Given the description of an element on the screen output the (x, y) to click on. 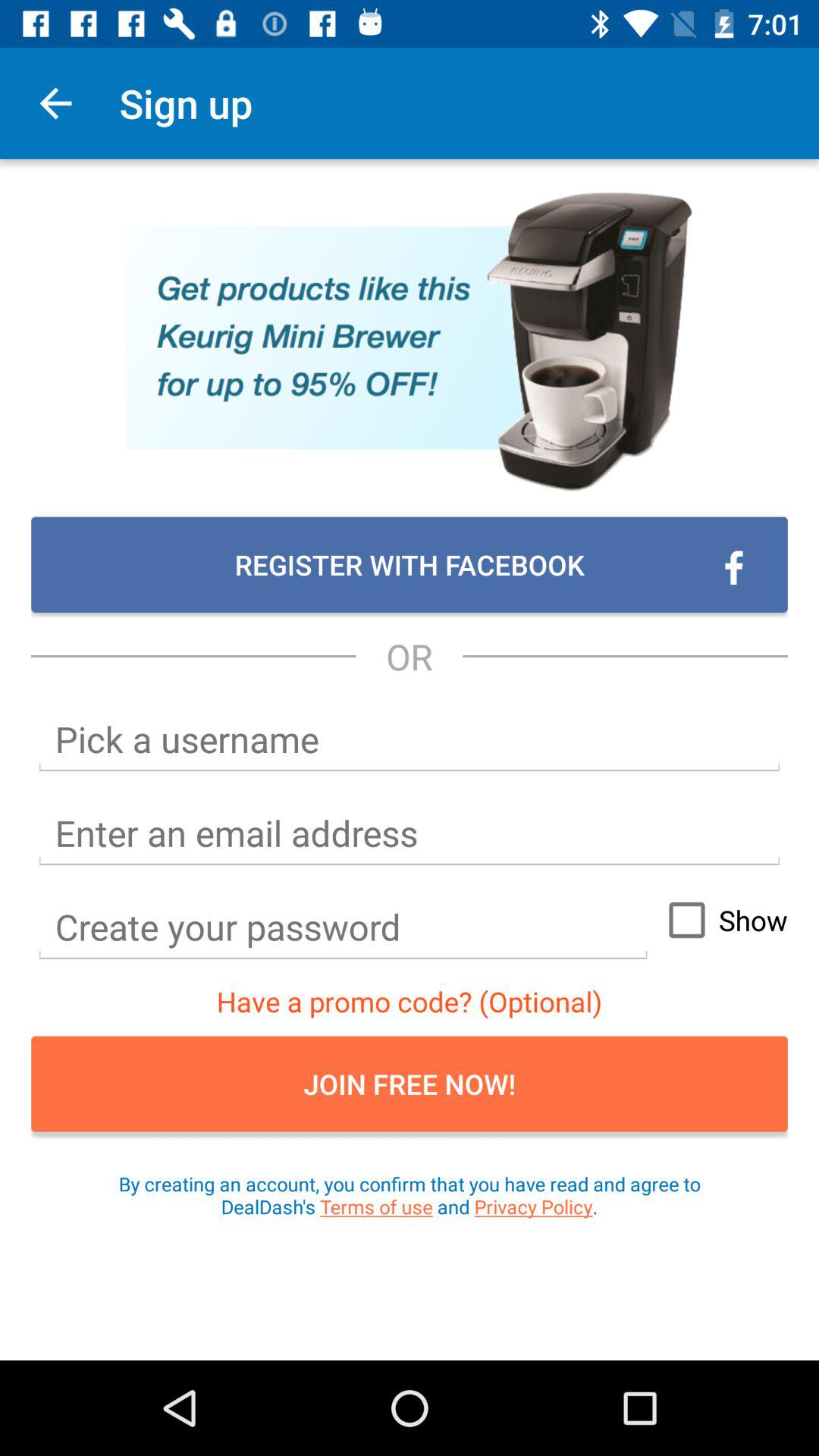
toggle email box (409, 833)
